Given the description of an element on the screen output the (x, y) to click on. 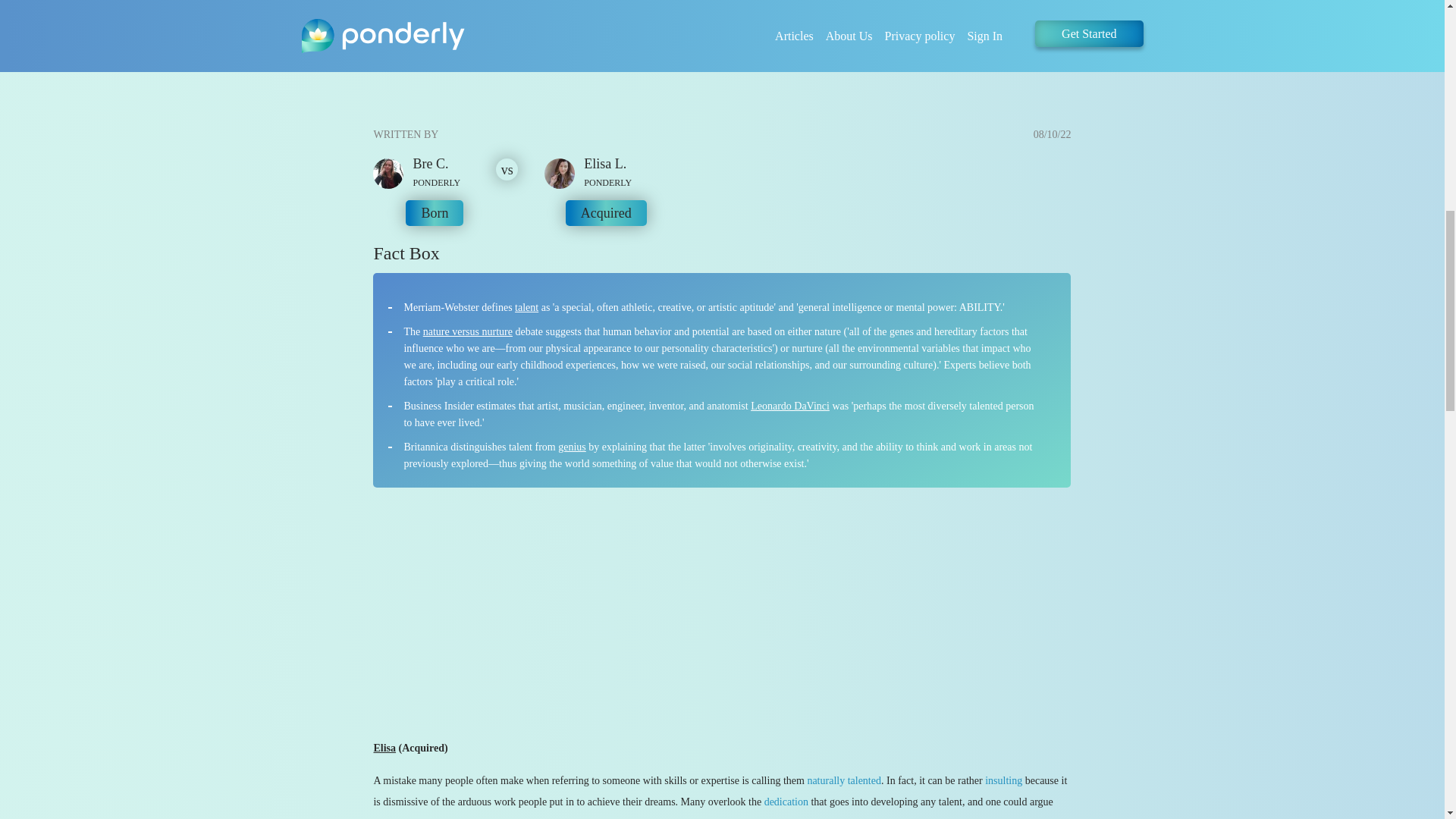
nature versus nurture (467, 331)
dedication (786, 801)
genius (571, 446)
Leonardo DaVinci (790, 405)
naturally talented (843, 780)
insulting (1003, 780)
talent (526, 307)
